Given the description of an element on the screen output the (x, y) to click on. 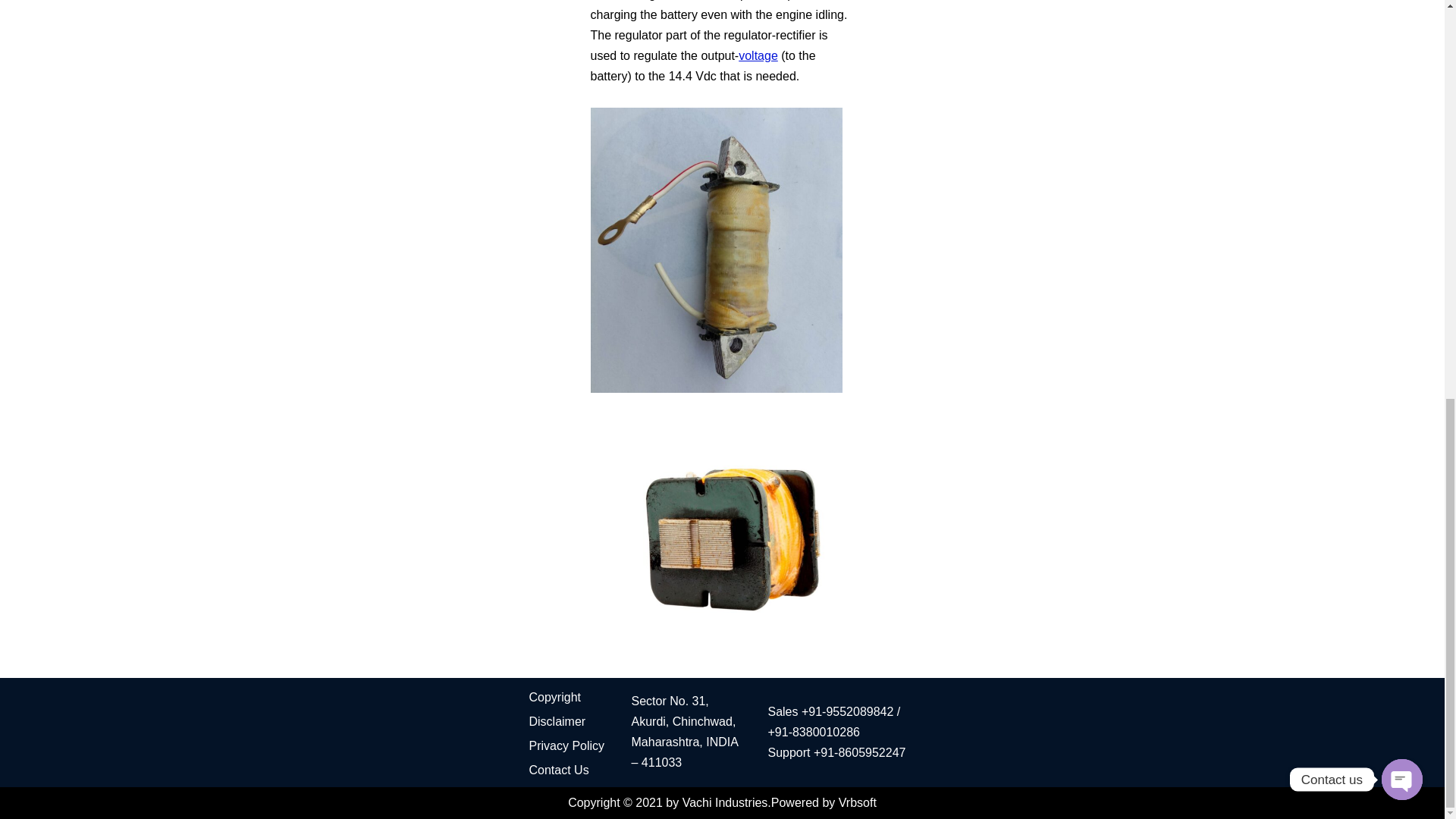
Vrbsoft (857, 802)
Vrbsoft (857, 802)
Copyright (554, 697)
Disclaimer (557, 721)
voltage (757, 55)
Privacy Policy (567, 745)
Contact Us (559, 769)
